Given the description of an element on the screen output the (x, y) to click on. 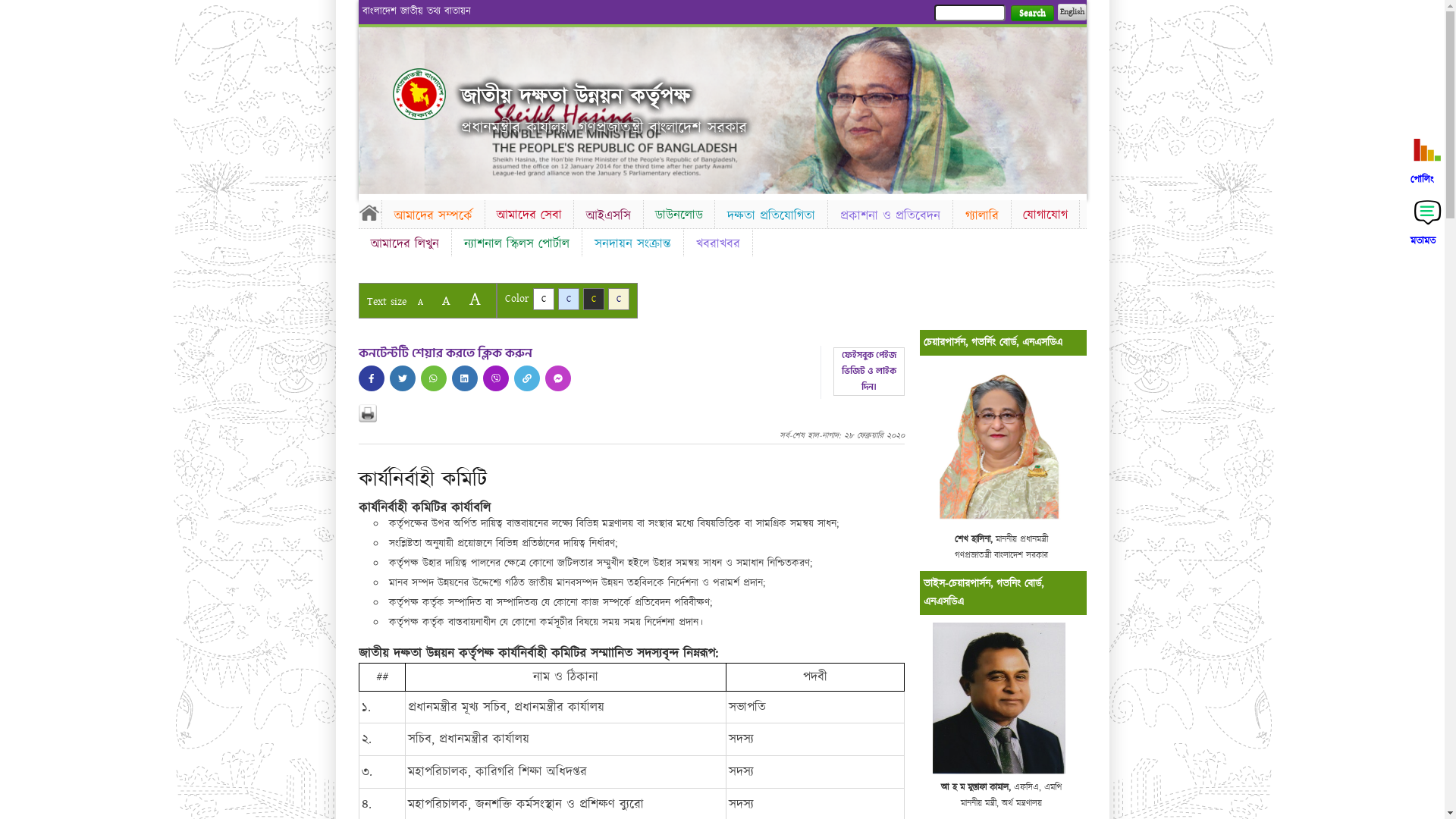
C Element type: text (568, 299)
Home Element type: hover (368, 211)
A Element type: text (445, 300)
A Element type: text (474, 298)
C Element type: text (542, 299)
Search Element type: text (1031, 13)
A Element type: text (419, 301)
C Element type: text (618, 299)
C Element type: text (592, 299)
Home Element type: hover (418, 93)
English Element type: text (1071, 11)
